Given the description of an element on the screen output the (x, y) to click on. 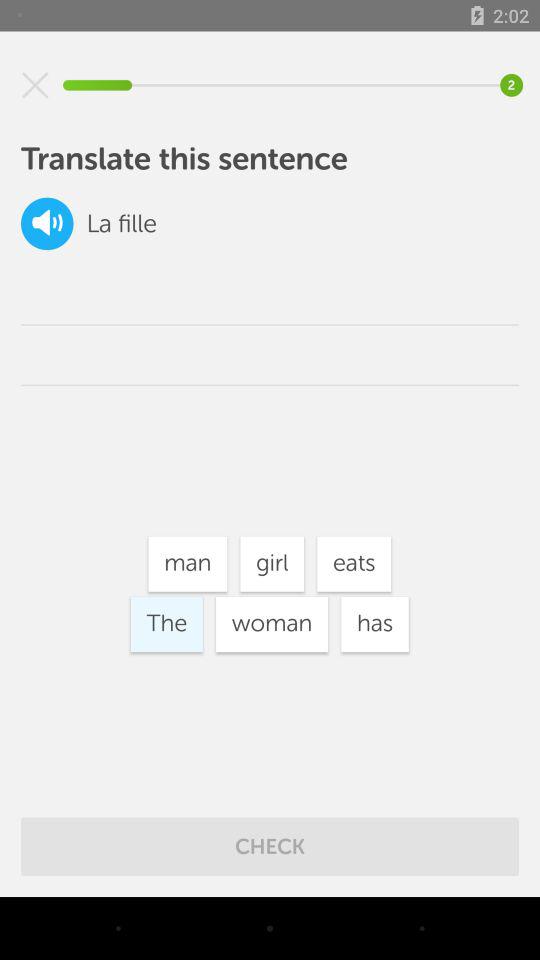
click the the item (166, 624)
